Given the description of an element on the screen output the (x, y) to click on. 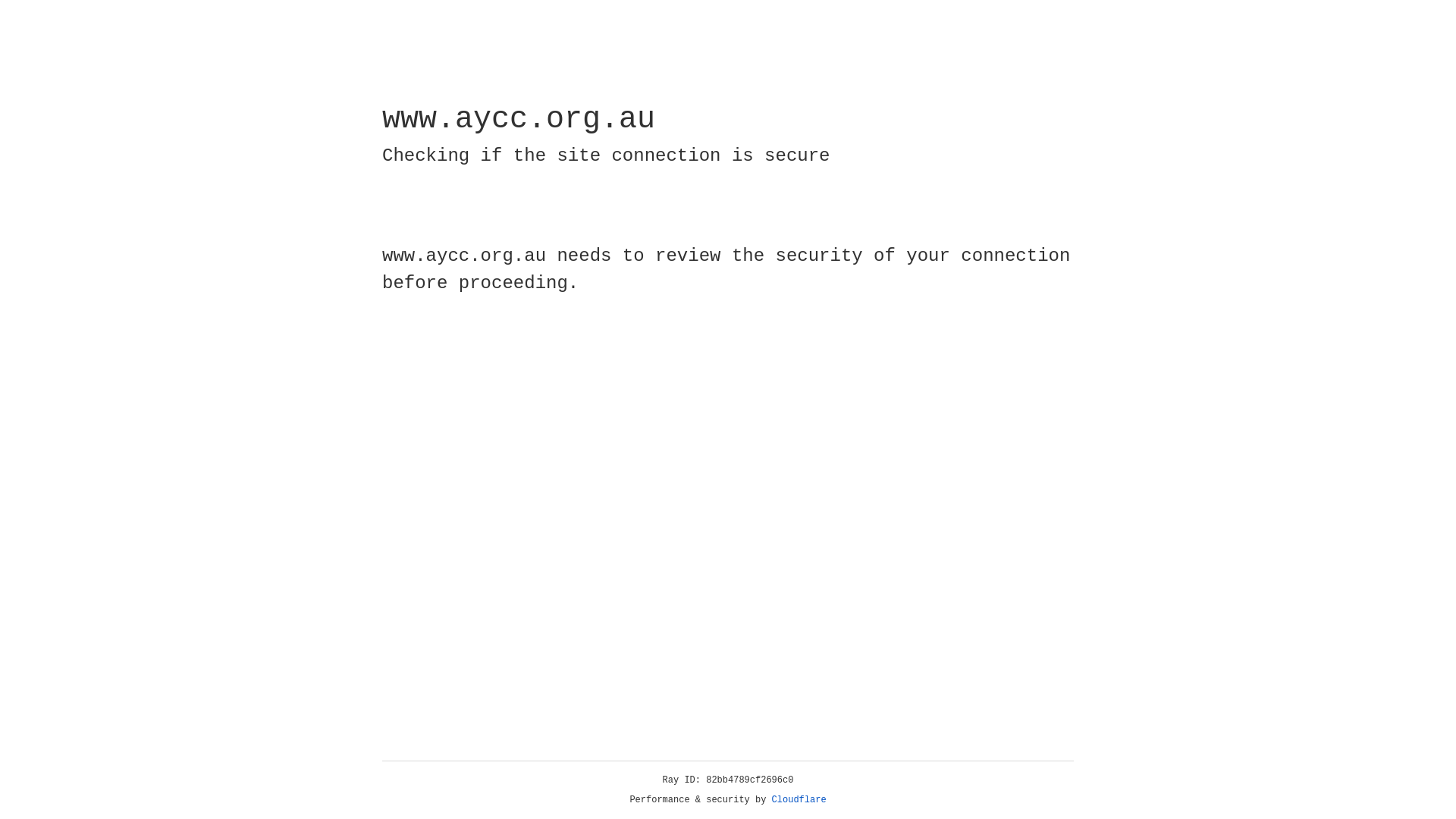
Cloudflare Element type: text (798, 799)
